Given the description of an element on the screen output the (x, y) to click on. 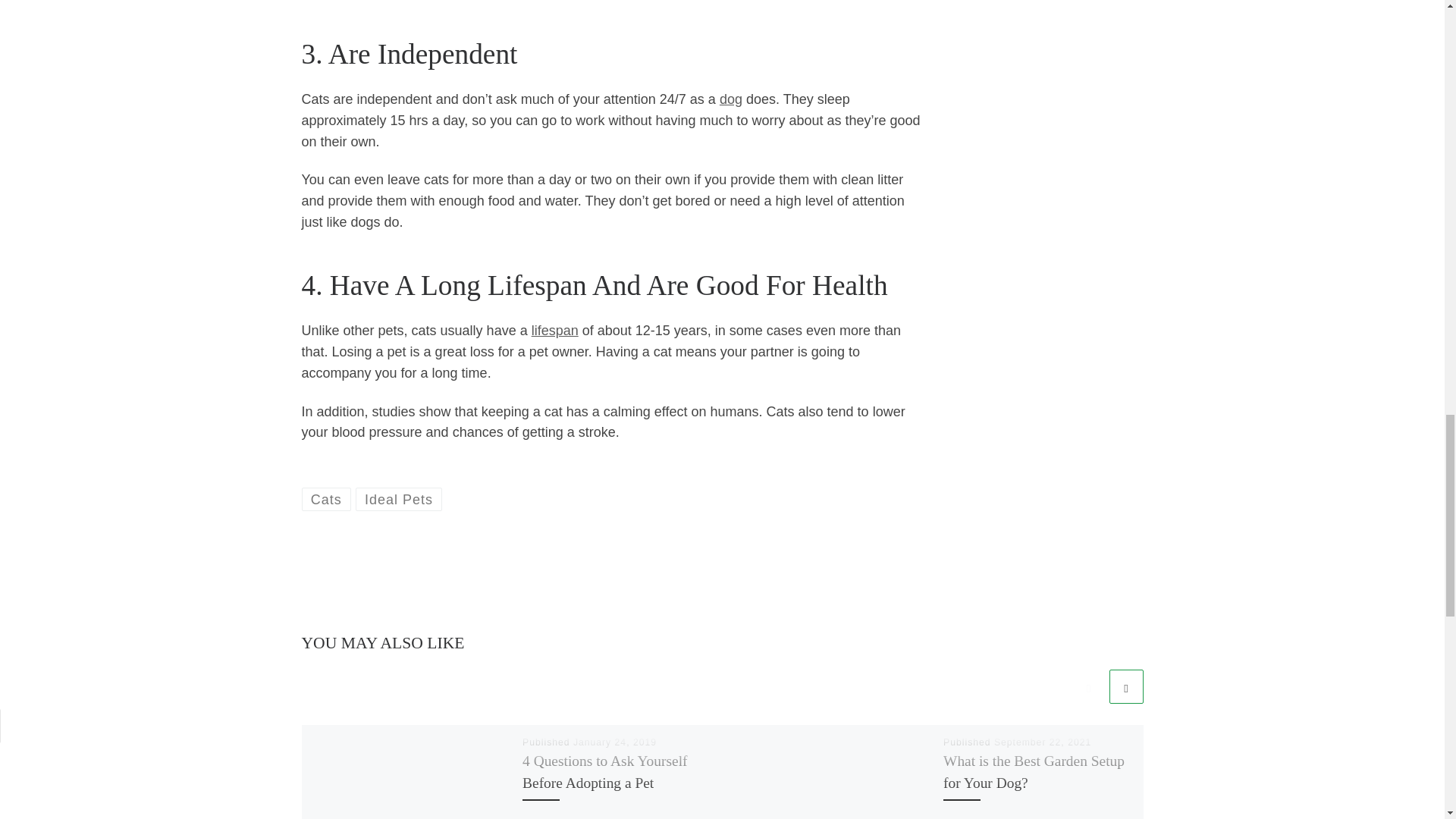
What is the Best Garden Setup for Your Dog? (1033, 771)
Next related articles (1125, 686)
Previous related articles (1088, 686)
Cats (326, 499)
View all posts in Cats (326, 499)
4 Questions to Ask Yourself Before Adopting a Pet (604, 771)
January 24, 2019 (614, 742)
dog (730, 99)
September 22, 2021 (1042, 742)
Ideal Pets (398, 499)
lifespan (554, 330)
View all posts in Ideal Pets (398, 499)
